Given the description of an element on the screen output the (x, y) to click on. 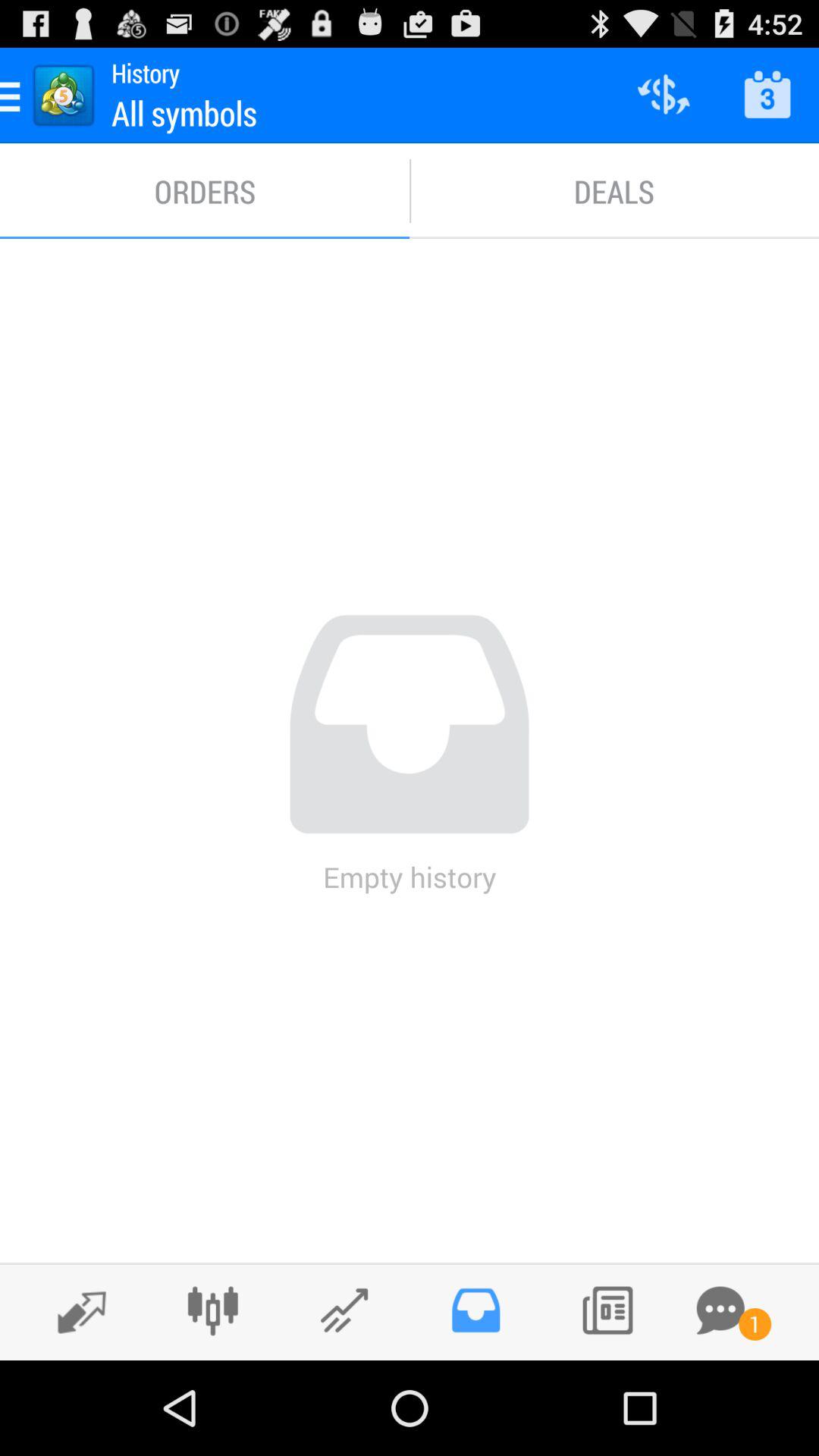
go to history (475, 1310)
